Given the description of an element on the screen output the (x, y) to click on. 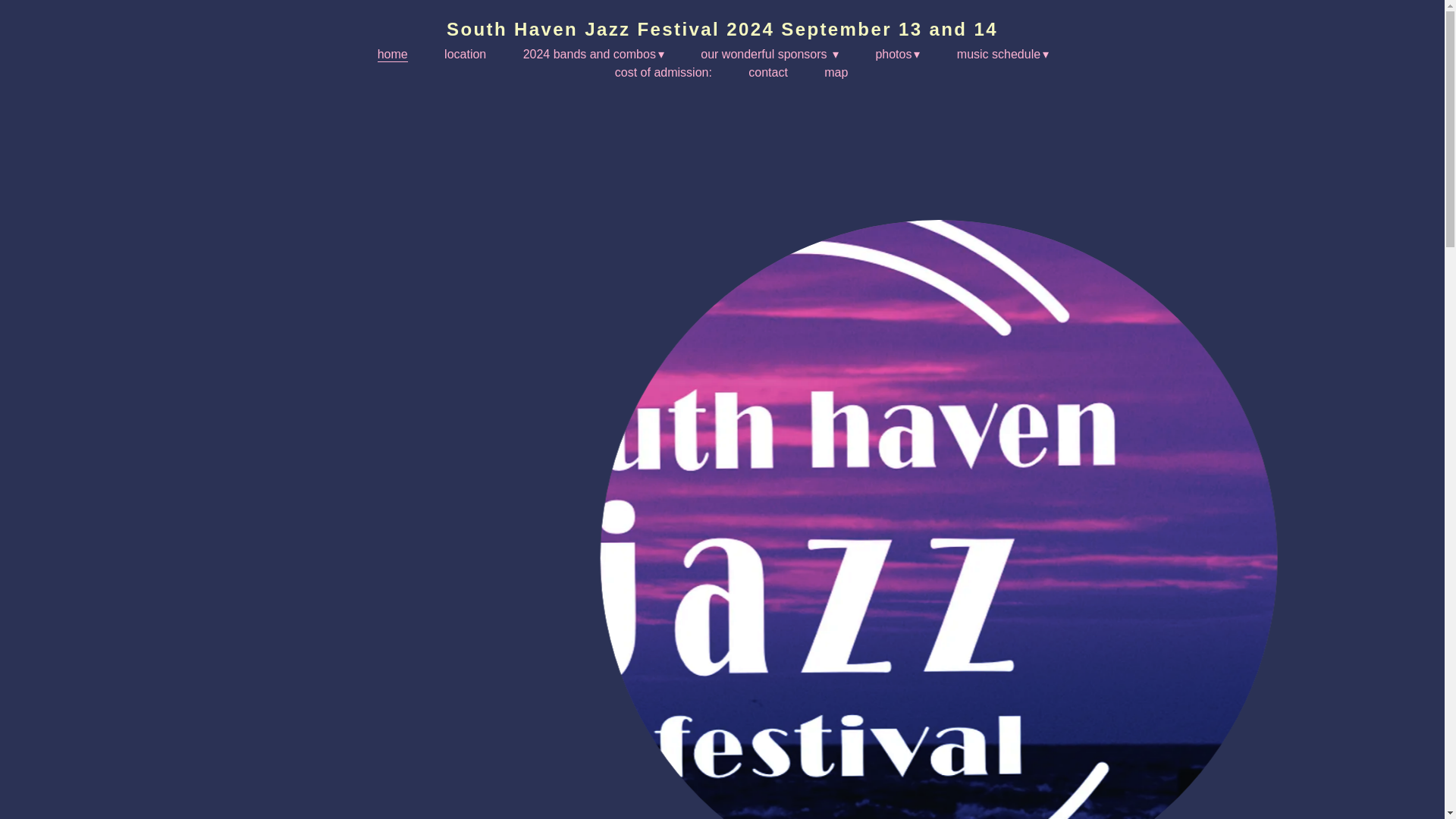
location (465, 54)
2024 bands and combos (592, 54)
home (392, 54)
South Haven Jazz Festival 2024 September 13 and 14 (721, 29)
